Given the description of an element on the screen output the (x, y) to click on. 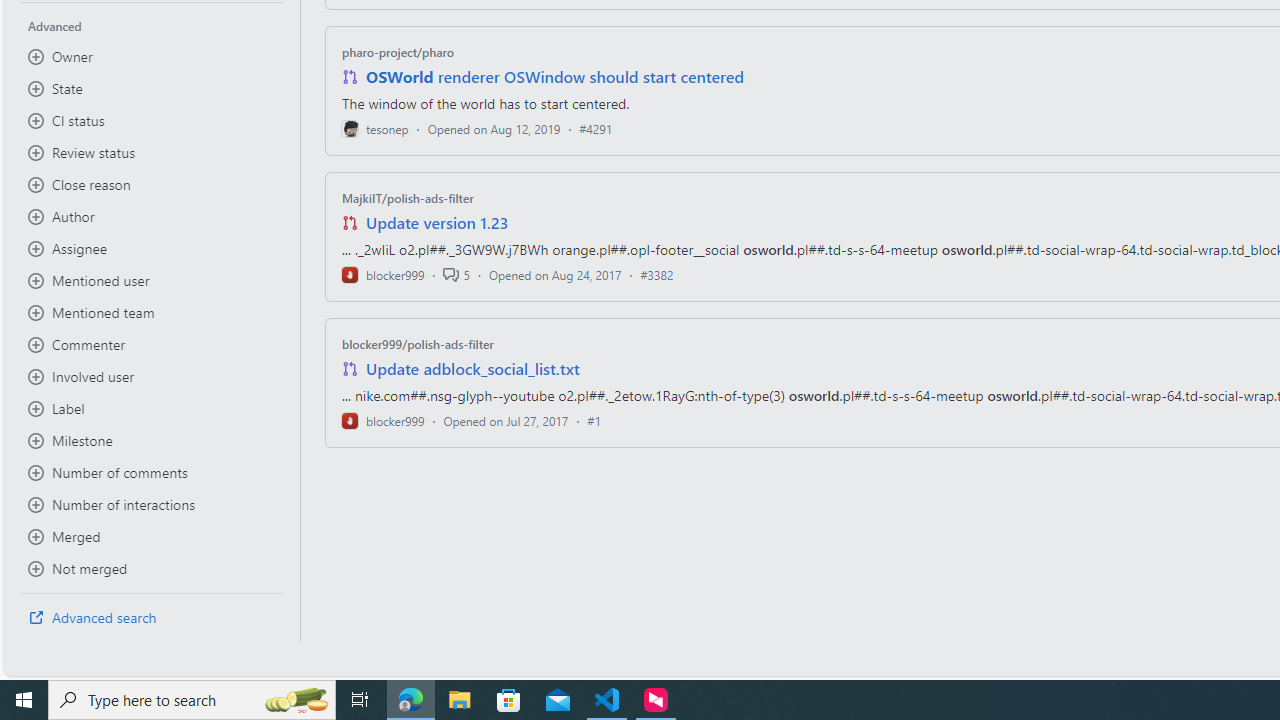
MajkiIT/polish-ads-filter (407, 197)
Update adblock_social_list.txt (472, 368)
pharo-project/pharo (397, 52)
OSWorld renderer OSWindow should start centered (554, 76)
